Given the description of an element on the screen output the (x, y) to click on. 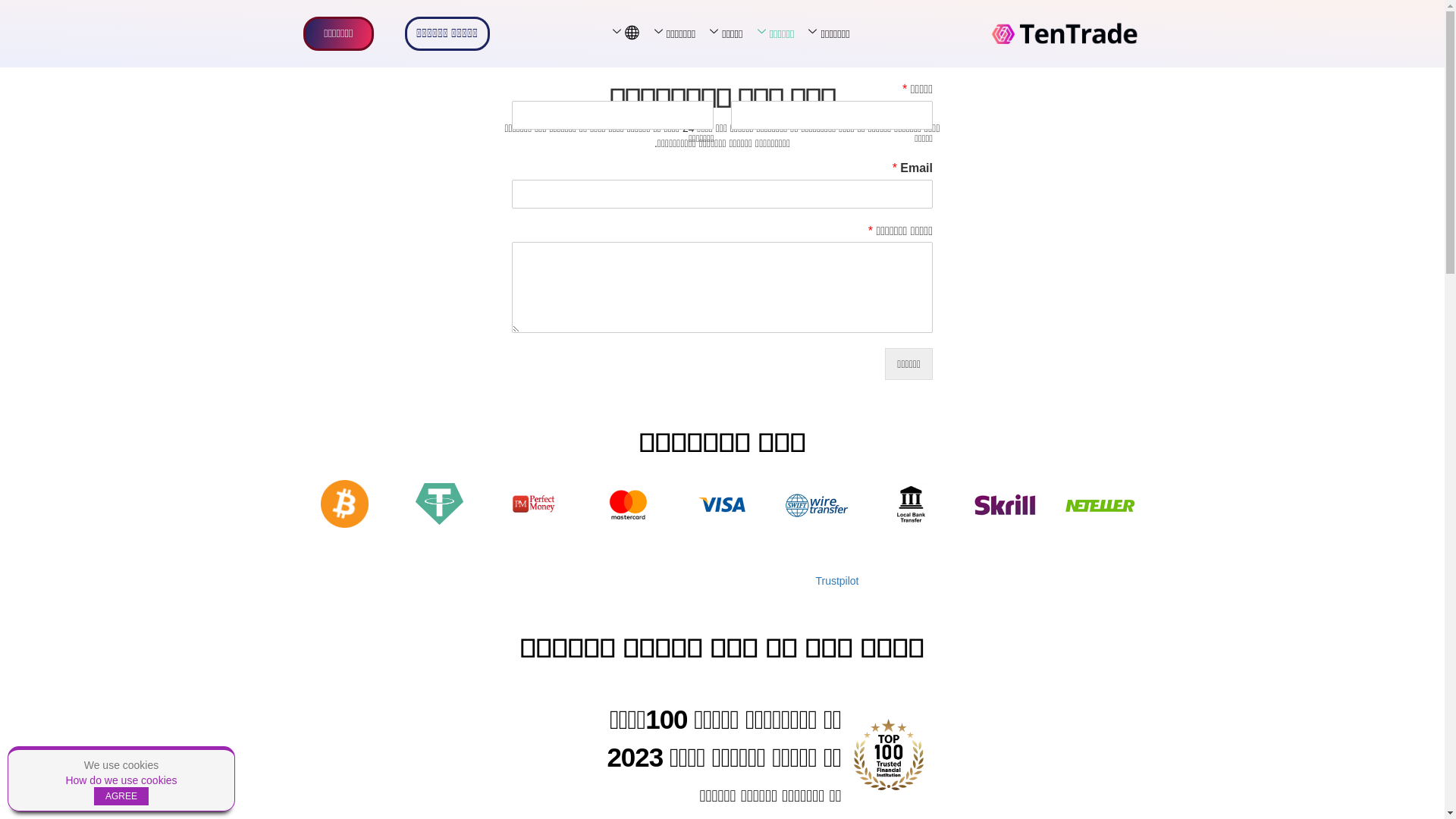
How do we use cookies Element type: text (120, 780)
Trustpilot Element type: text (836, 580)
AGREE Element type: text (121, 796)
support Element type: text (951, 7)
